Given the description of an element on the screen output the (x, y) to click on. 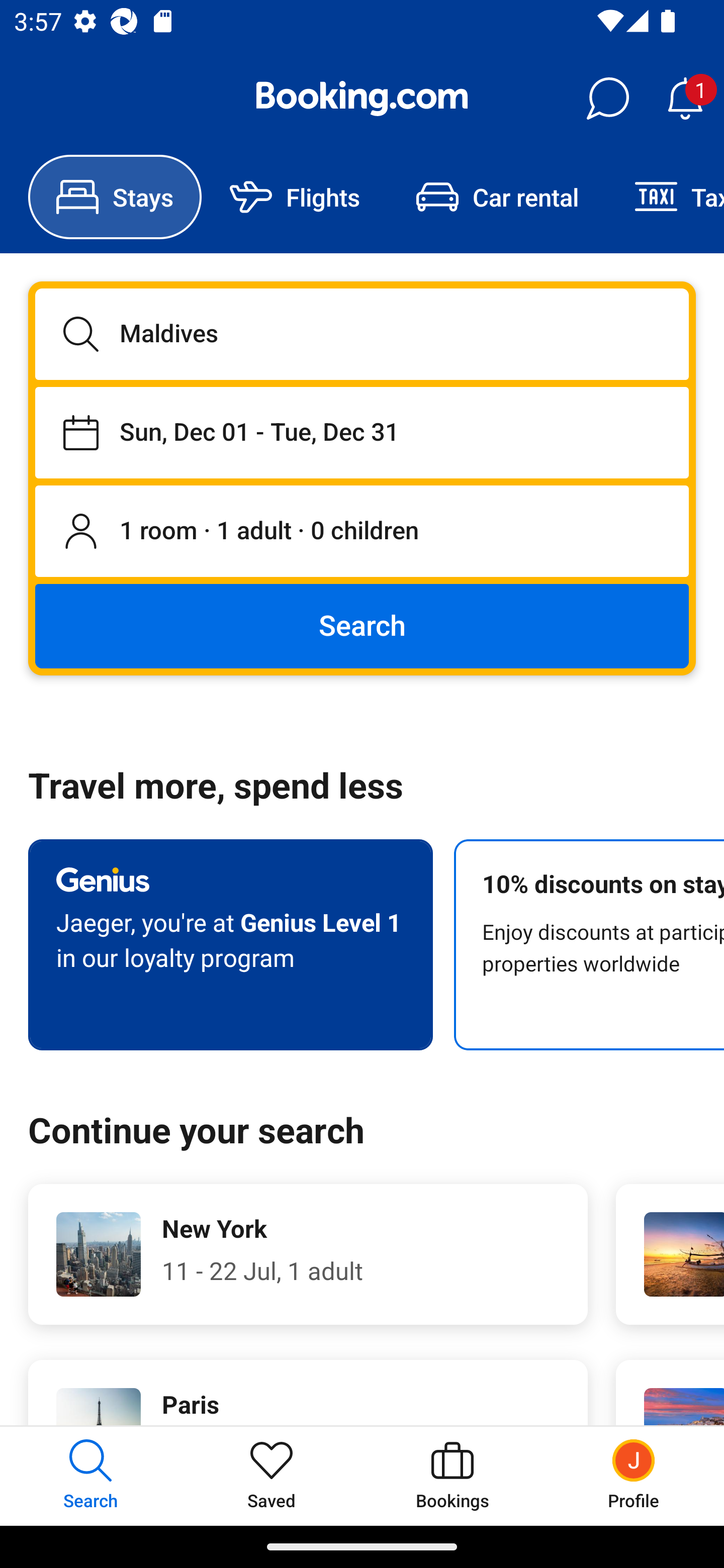
Messages (607, 98)
Notifications (685, 98)
Stays (114, 197)
Flights (294, 197)
Car rental (497, 197)
Taxi (665, 197)
Maldives (361, 333)
Staying from Sun, Dec 01 until Tue, Dec 31 (361, 432)
1 room, 1 adult, 0 children (361, 531)
Search (361, 625)
New York 11 - 22 Jul, 1 adult (307, 1253)
Saved (271, 1475)
Bookings (452, 1475)
Profile (633, 1475)
